Given the description of an element on the screen output the (x, y) to click on. 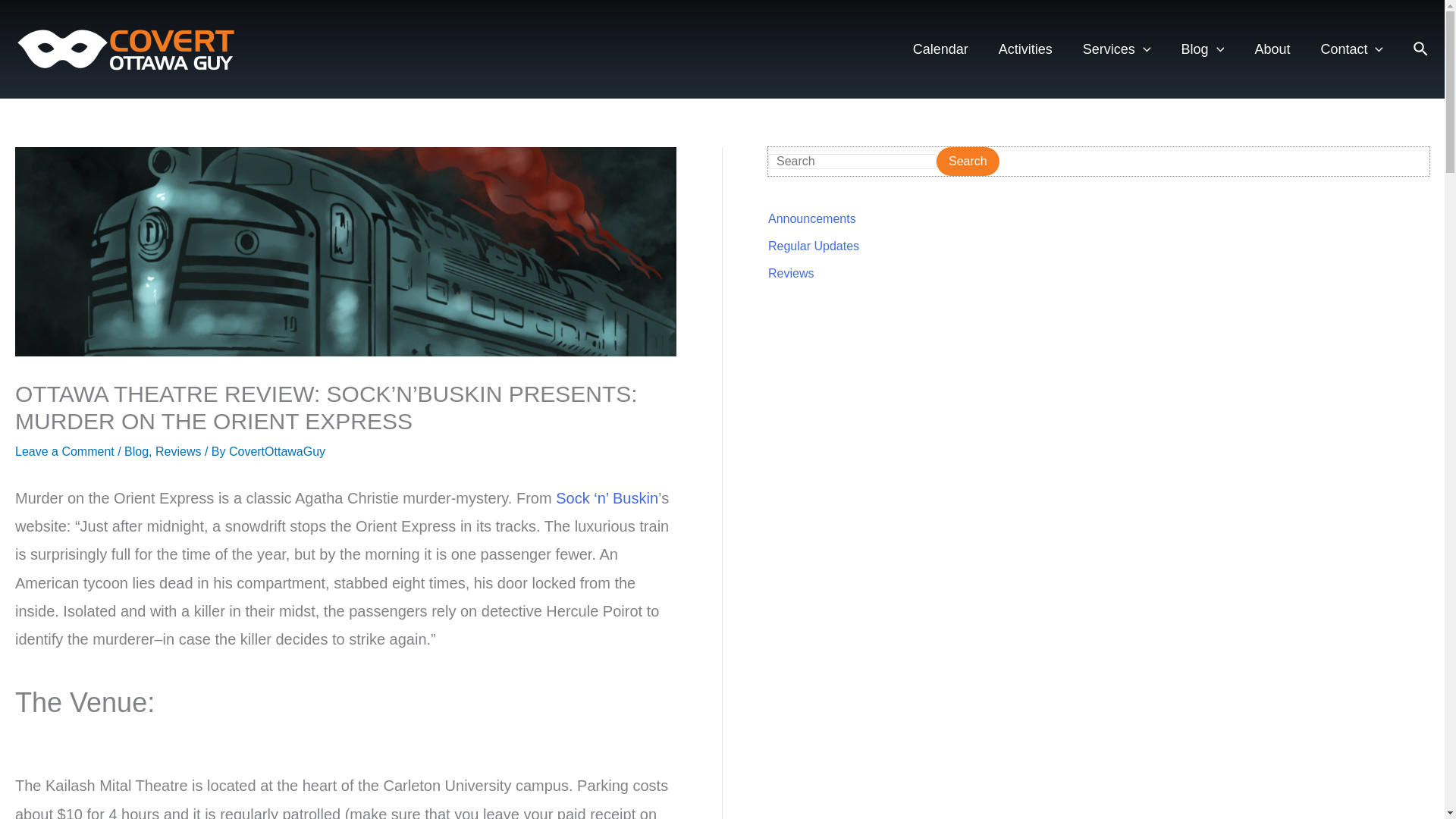
View all posts by CovertOttawaGuy (276, 451)
Services (1116, 49)
Contact (1350, 49)
